Given the description of an element on the screen output the (x, y) to click on. 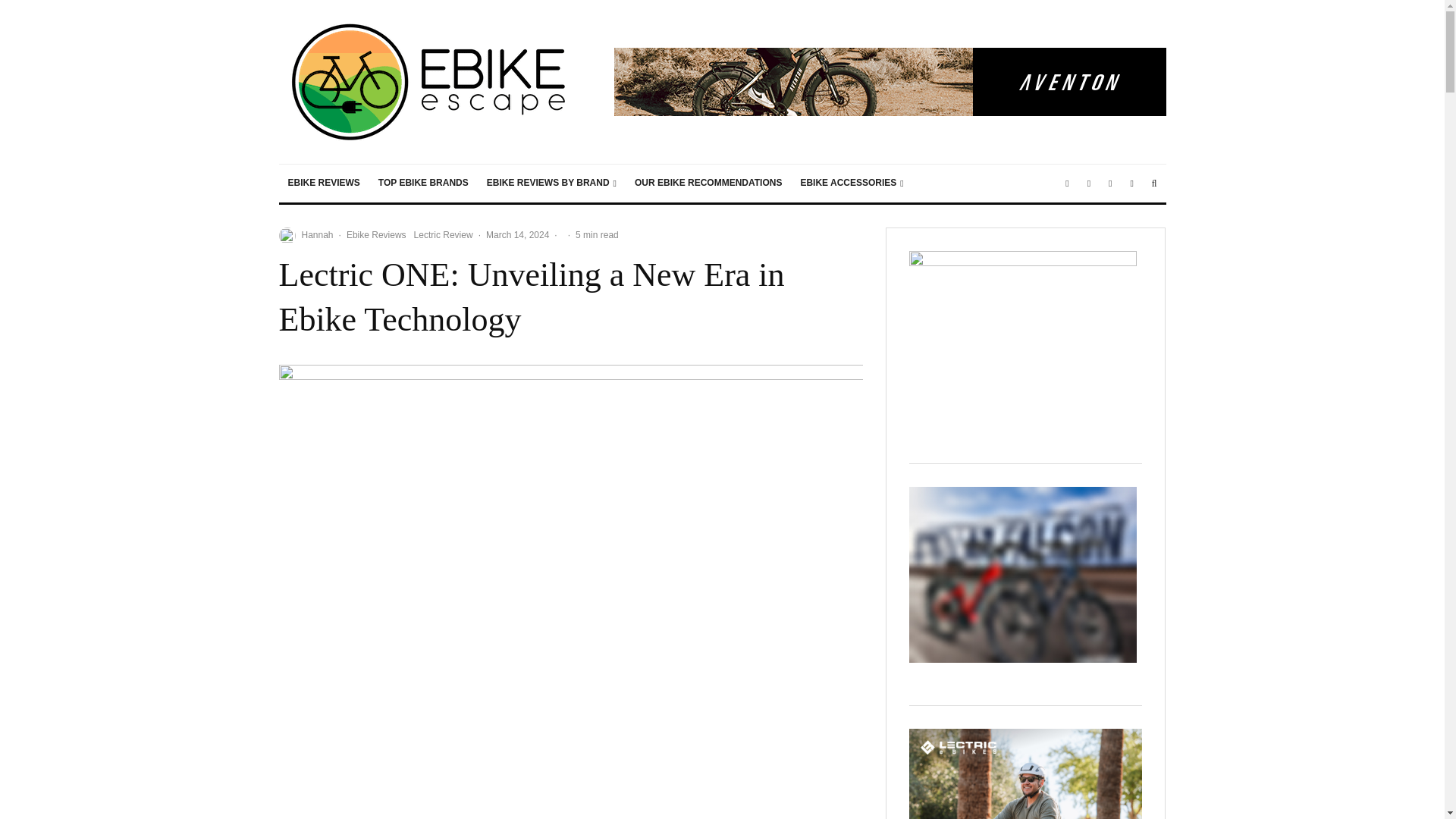
EBIKE REVIEWS BY BRAND (551, 183)
EBIKE REVIEWS (324, 183)
TOP EBIKE BRANDS (423, 183)
OUR EBIKE RECOMMENDATIONS (708, 183)
